Given the description of an element on the screen output the (x, y) to click on. 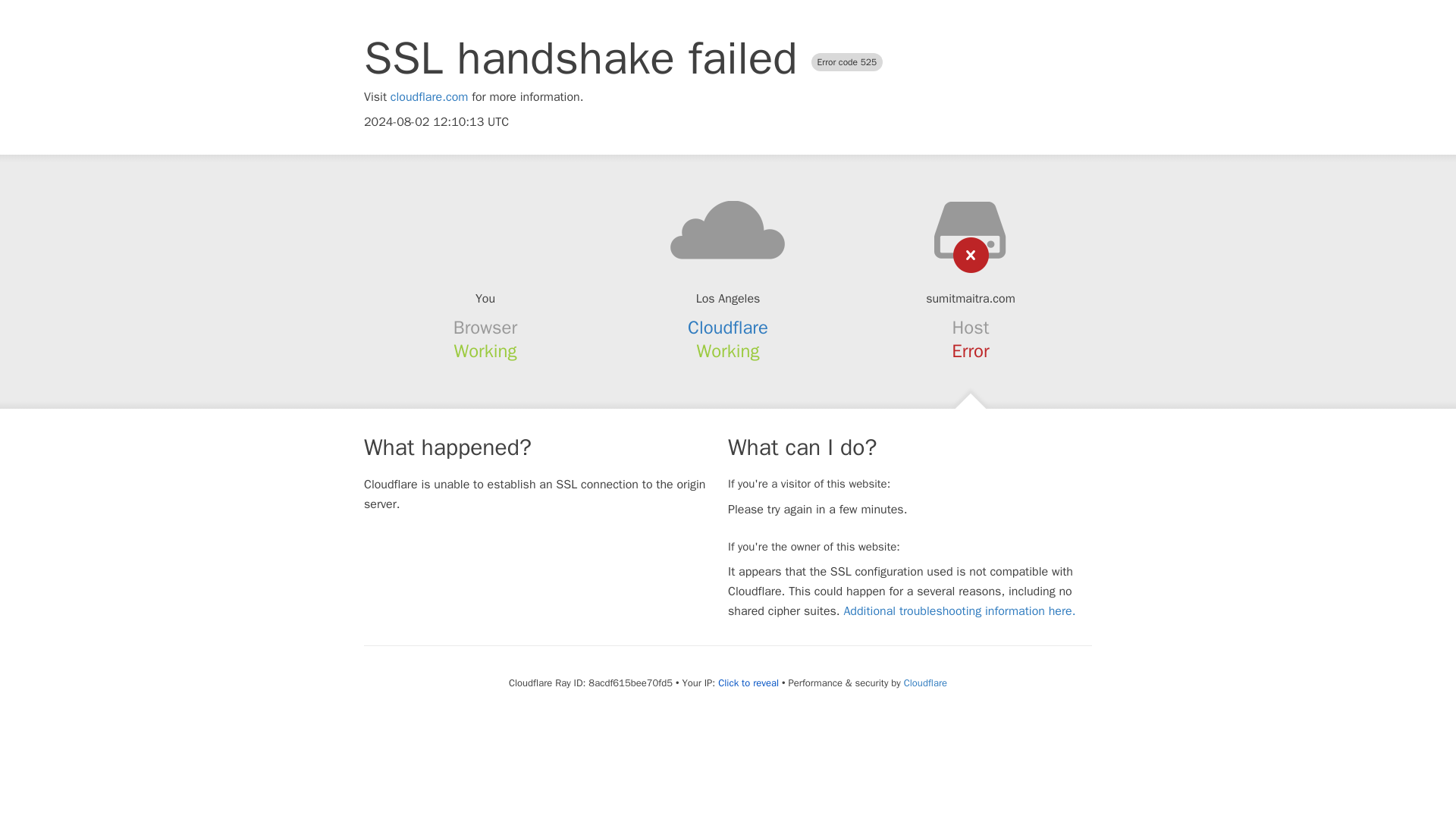
cloudflare.com (429, 96)
Cloudflare (727, 327)
Click to reveal (747, 683)
Additional troubleshooting information here. (959, 611)
Cloudflare (925, 682)
